Given the description of an element on the screen output the (x, y) to click on. 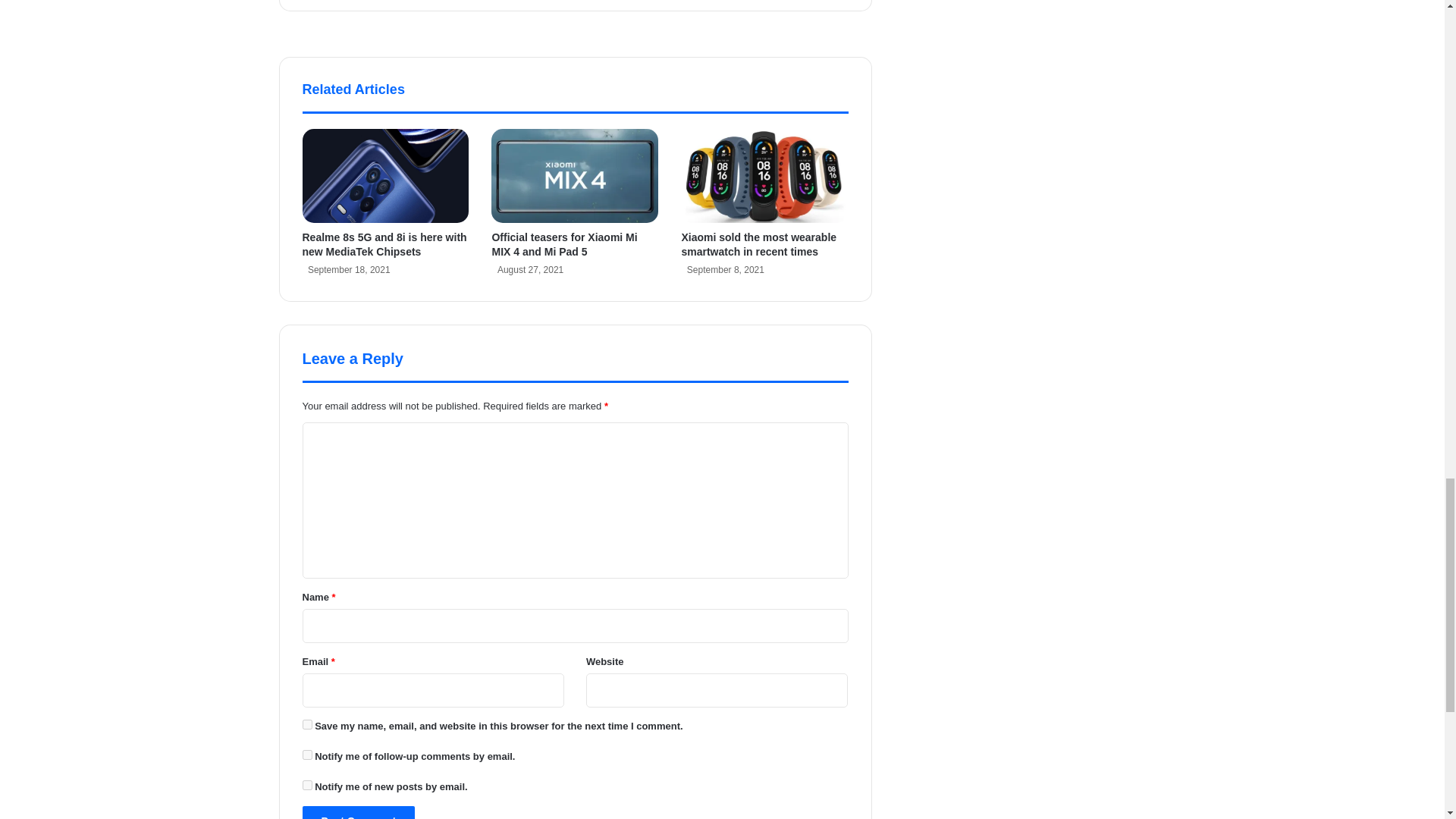
subscribe (306, 755)
yes (306, 724)
Post Comment (357, 812)
subscribe (306, 785)
